Given the description of an element on the screen output the (x, y) to click on. 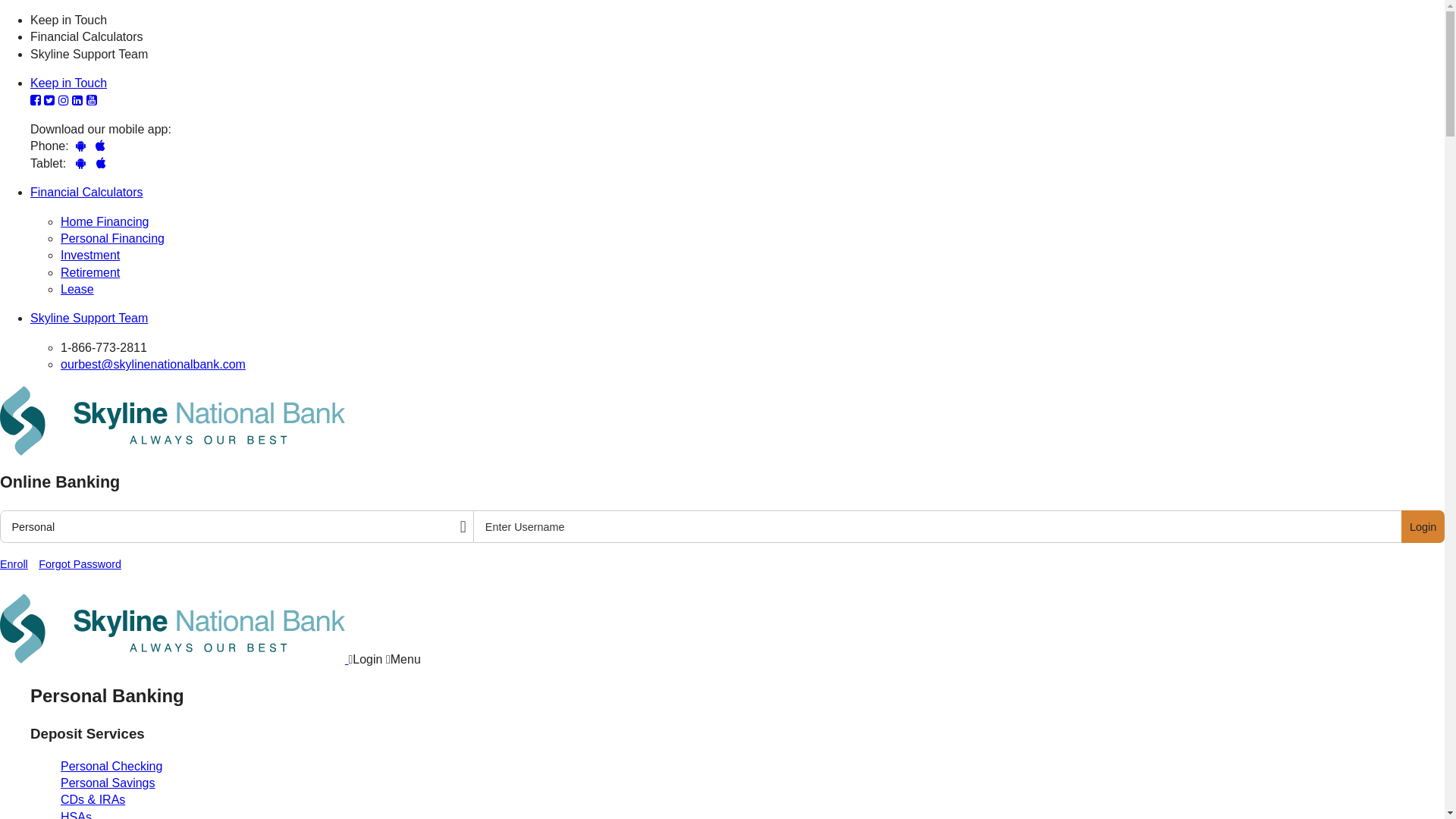
Retirement Element type: text (89, 272)
Personal Financing Element type: text (112, 238)
Login Element type: text (365, 658)
Investment Element type: text (89, 254)
Financial Calculators Element type: text (86, 191)
Home Financing Element type: text (104, 221)
ourbest@skylinenationalbank.com Element type: text (152, 363)
Keep in Touch Element type: text (68, 82)
Lease Element type: text (77, 288)
Skyline Support Team Element type: text (88, 317)
Login Element type: text (1422, 526)
Menu Element type: text (402, 658)
Personal Savings Element type: text (107, 782)
Enroll Element type: text (14, 564)
CDs & IRAs Element type: text (92, 799)
Personal Checking Element type: text (111, 765)
Forgot Password Element type: text (79, 564)
